Given the description of an element on the screen output the (x, y) to click on. 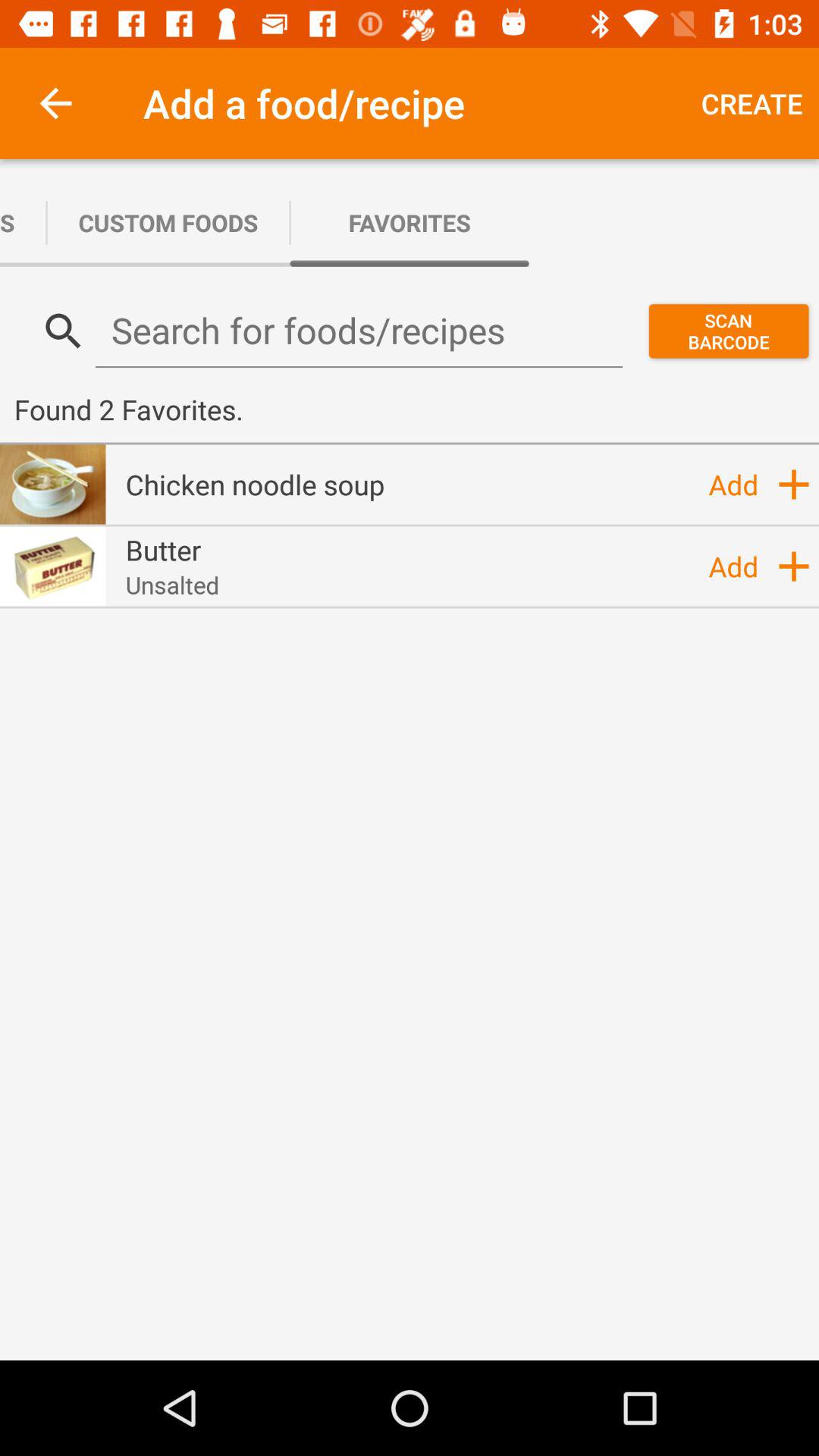
turn off icon above the add icon (793, 484)
